Given the description of an element on the screen output the (x, y) to click on. 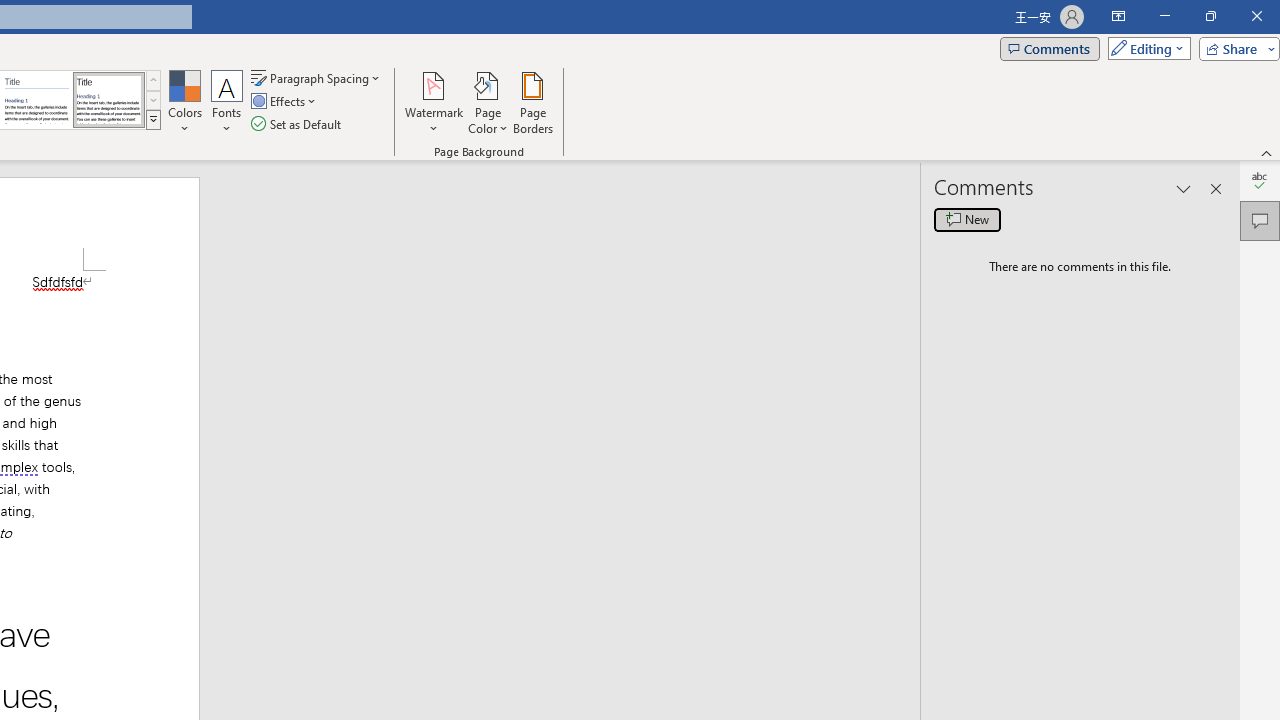
Colors (184, 102)
Style Set (153, 120)
Set as Default (298, 124)
Watermark (434, 102)
New comment (967, 219)
Effects (285, 101)
Editing (1144, 47)
